Given the description of an element on the screen output the (x, y) to click on. 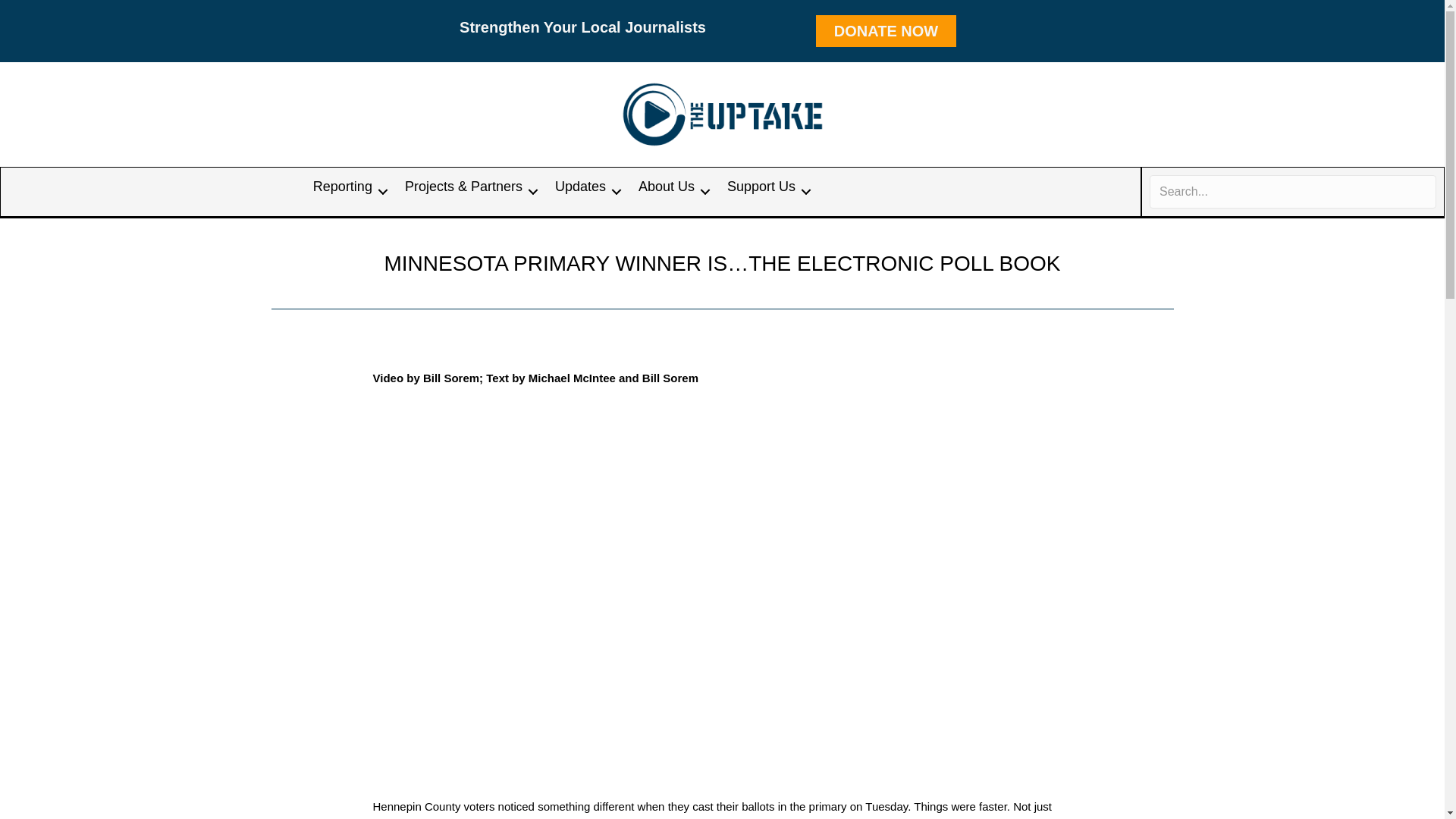
Updates (585, 191)
About Us (671, 191)
Reporting (347, 191)
UpTake Logo 7 1 (722, 113)
Support Us (766, 191)
DONATE NOW (885, 30)
